Given the description of an element on the screen output the (x, y) to click on. 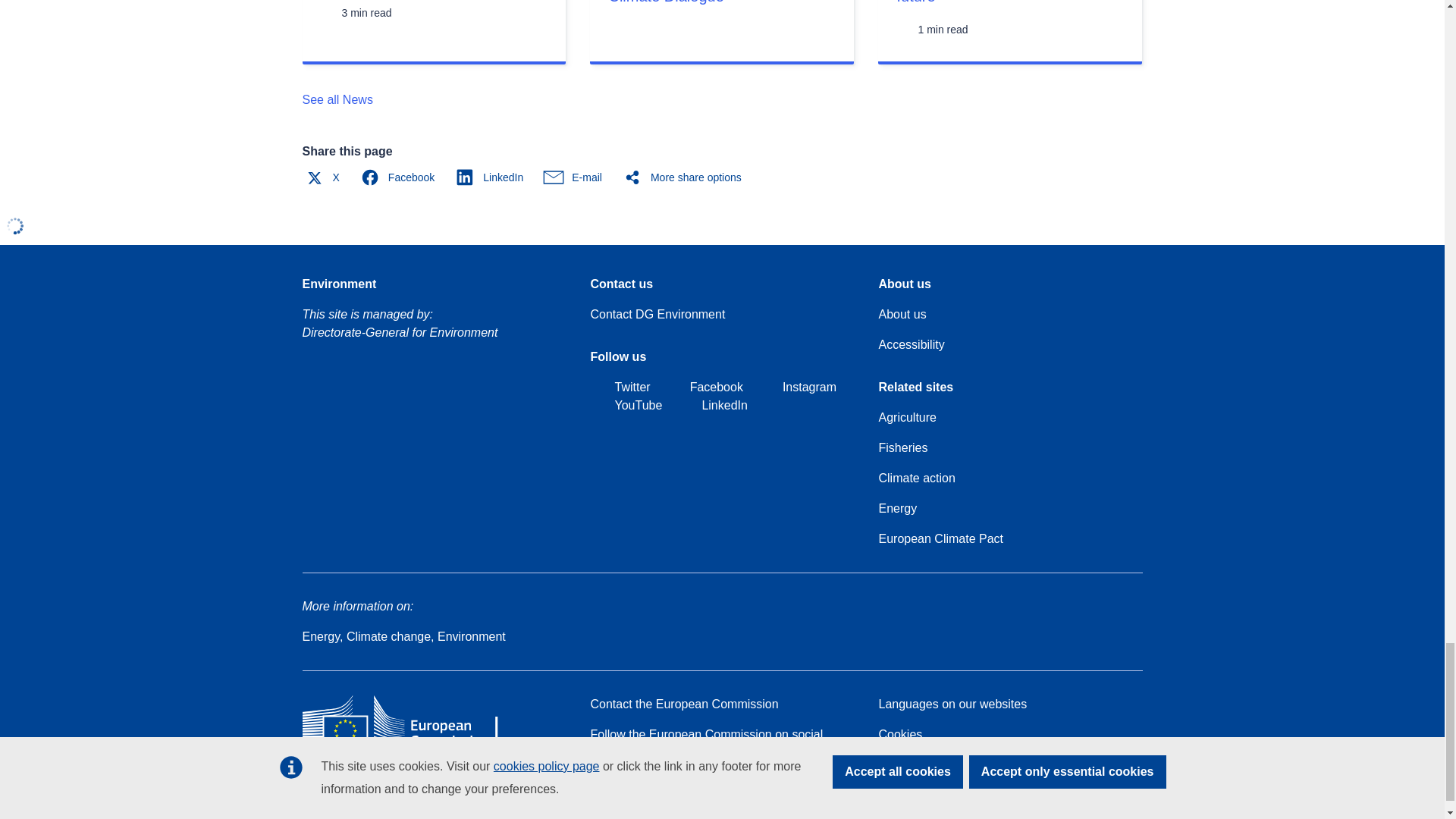
European Commission (411, 745)
